Given the description of an element on the screen output the (x, y) to click on. 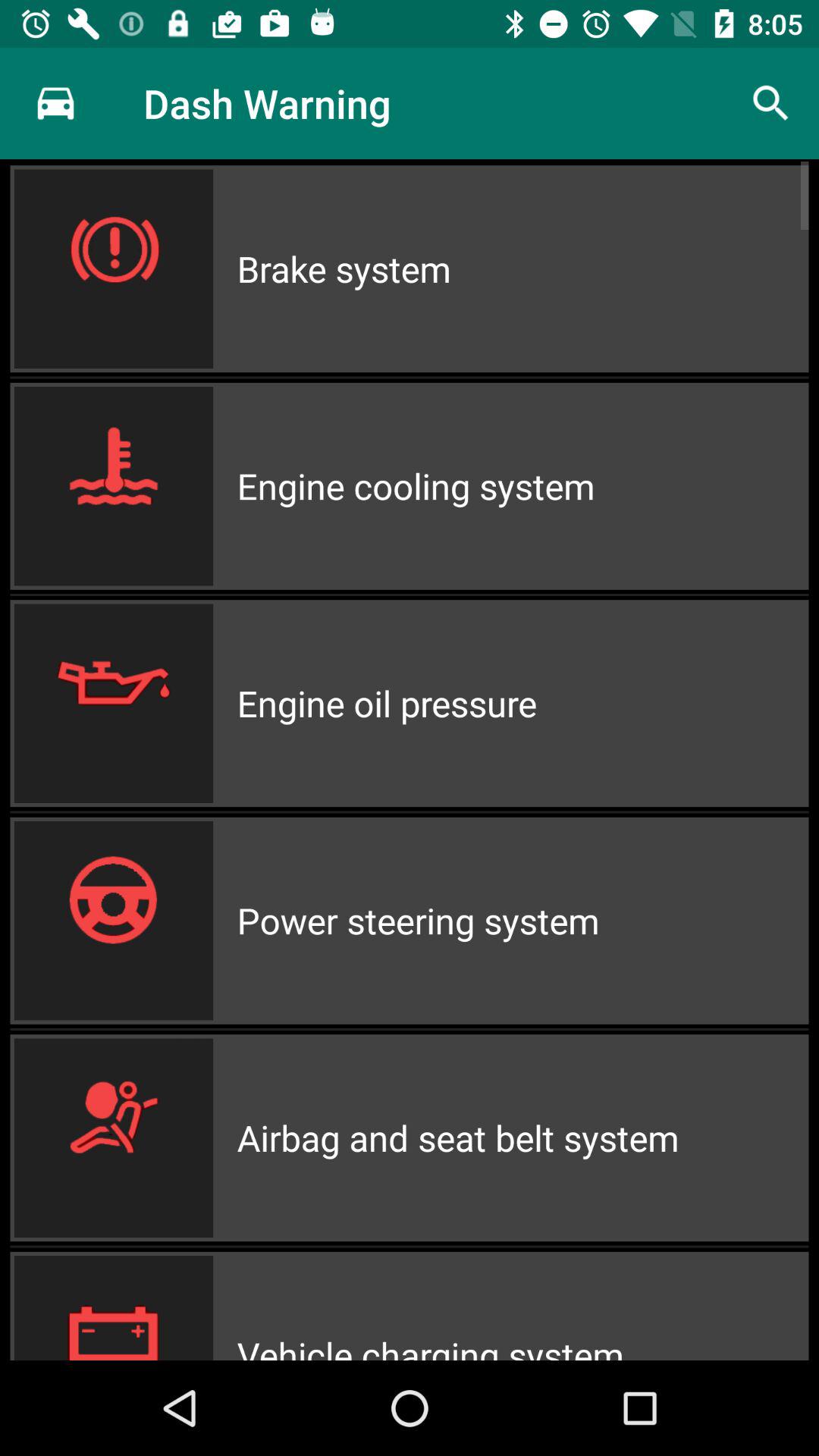
turn on the icon below the engine oil pressure icon (522, 920)
